Given the description of an element on the screen output the (x, y) to click on. 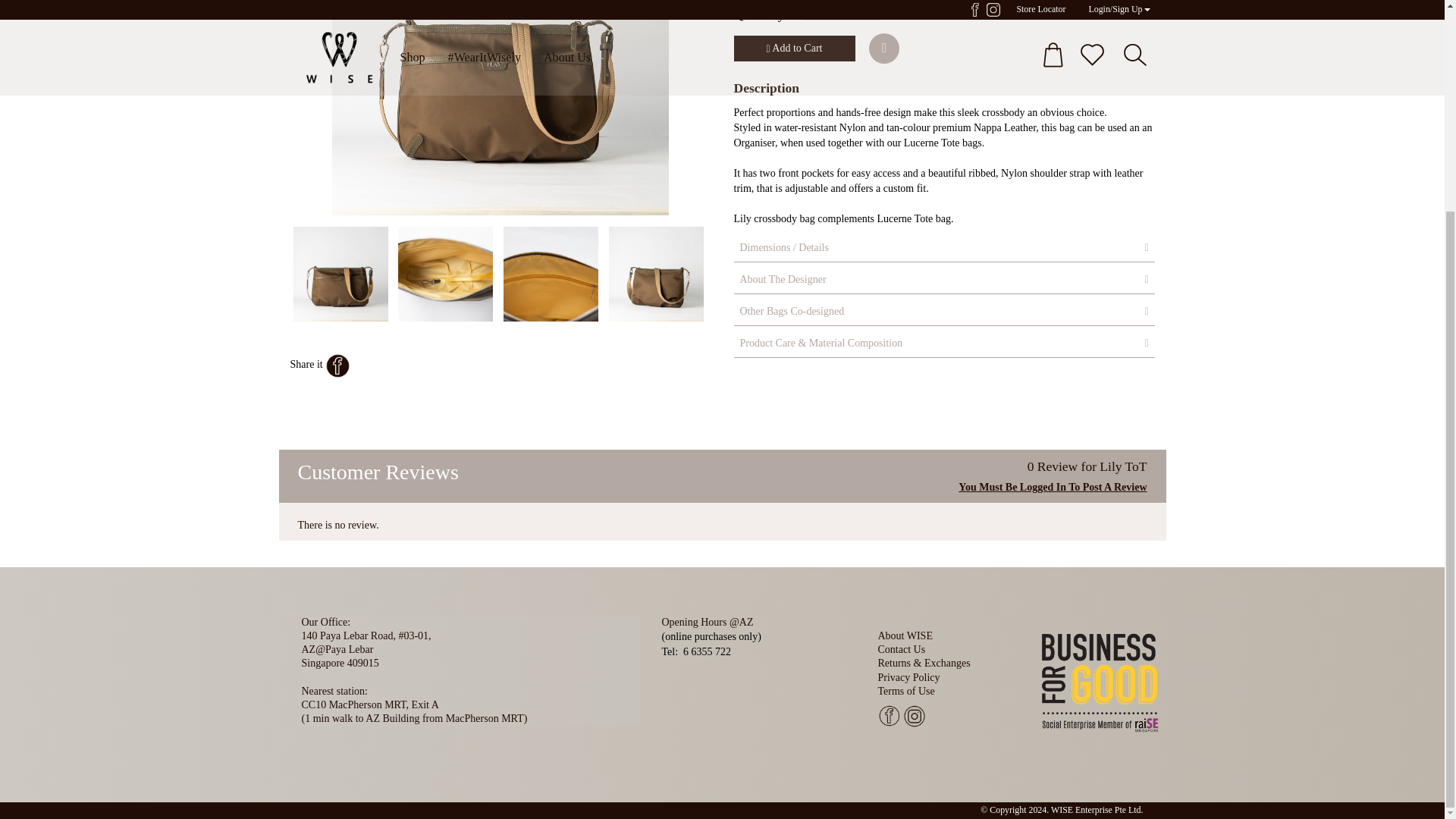
Contact Us (901, 649)
About The Designer (943, 279)
Add to Cart (794, 48)
You Must Be Logged In To Post A Review (1052, 487)
1 (841, 10)
About WISE (905, 635)
Other Bags Co-designed (943, 311)
